Given the description of an element on the screen output the (x, y) to click on. 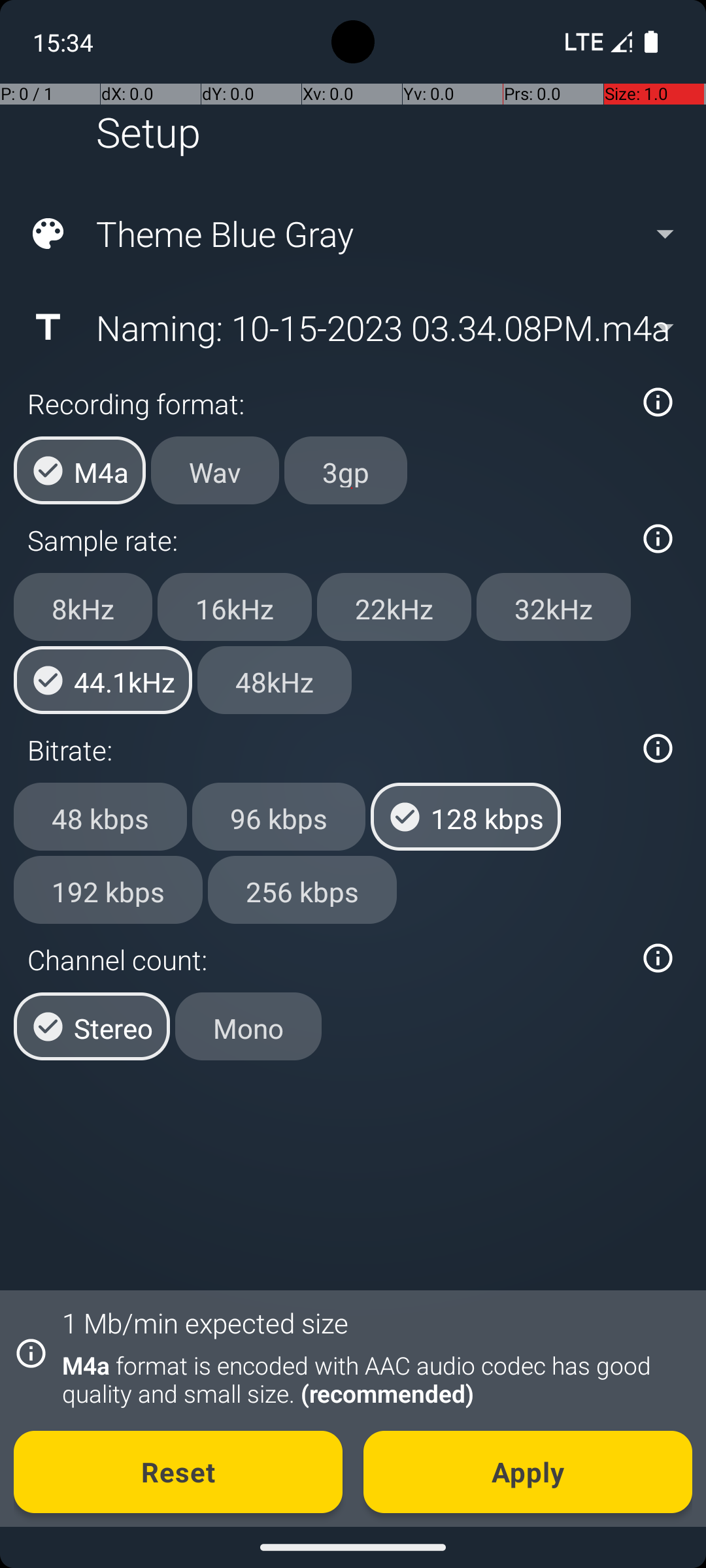
Naming: 10-15-2023 03.34.08PM.m4a Element type: android.widget.TextView (352, 327)
